Given the description of an element on the screen output the (x, y) to click on. 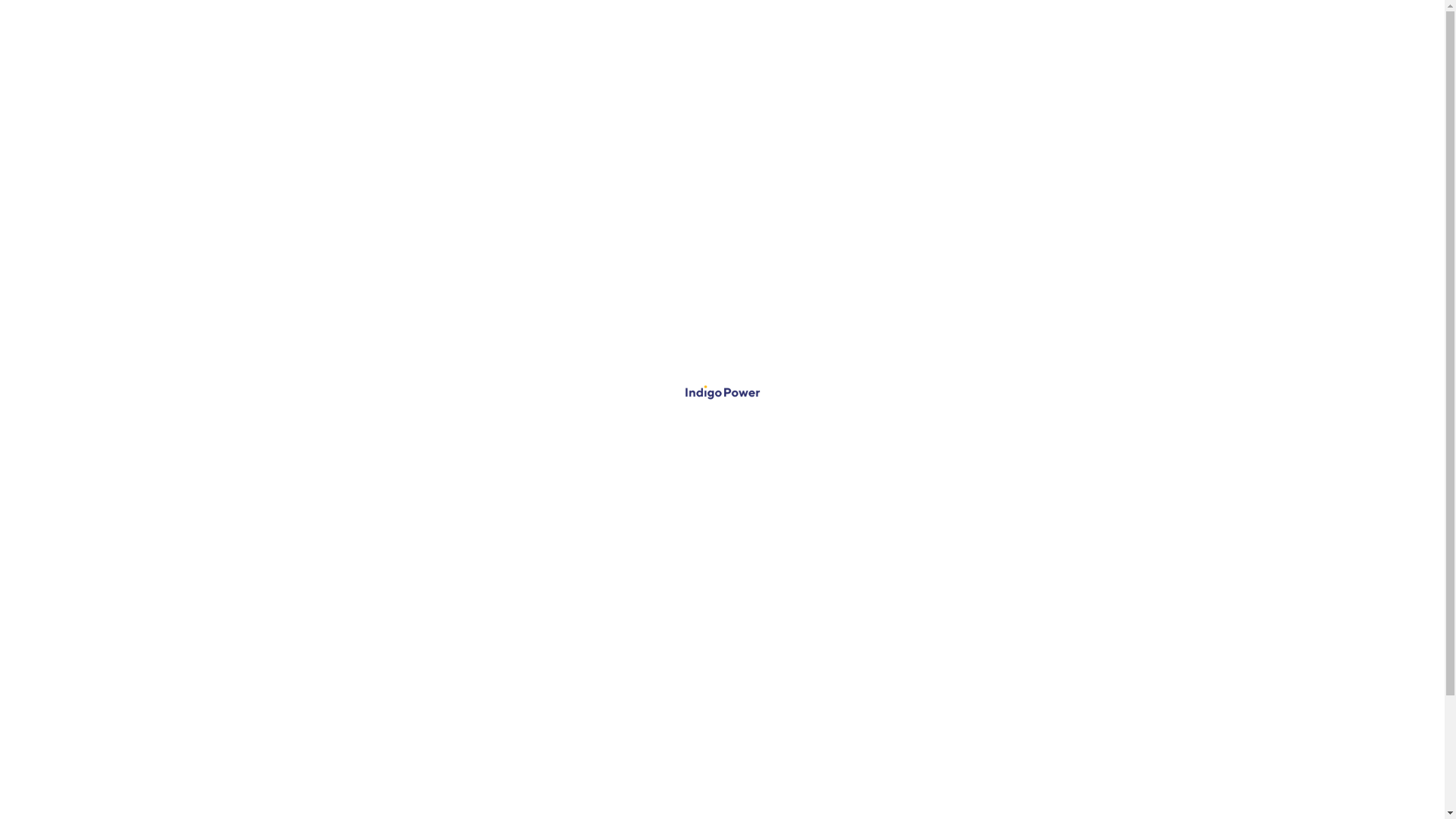
BUSINESS Element type: text (466, 713)
PAYMENT OPTIONS Element type: text (1070, 729)
MOVING HOUSE Element type: text (484, 729)
PAYMENT DIFFICULTY Element type: text (1075, 806)
CONTACT US Element type: text (768, 806)
SIGN UP Element type: text (1109, 31)
MY ACCOUNT Element type: text (1201, 31)
RESIDENTIAL Element type: text (474, 698)
energylocals.com.au/pay-by-card Element type: text (840, 400)
Make a payment Element type: text (234, 149)
BUSINESS SOLUTIONS Element type: text (1075, 744)
Credit or debit card Element type: text (831, 356)
Bpay Element type: text (761, 477)
OUR COMMUNITY Element type: text (779, 713)
MY PORTAL Element type: text (1051, 713)
Direct Debit Element type: text (792, 286)
OUR PROMISE Element type: text (768, 698)
MY ACCOUNT Element type: text (1058, 698)
